Given the description of an element on the screen output the (x, y) to click on. 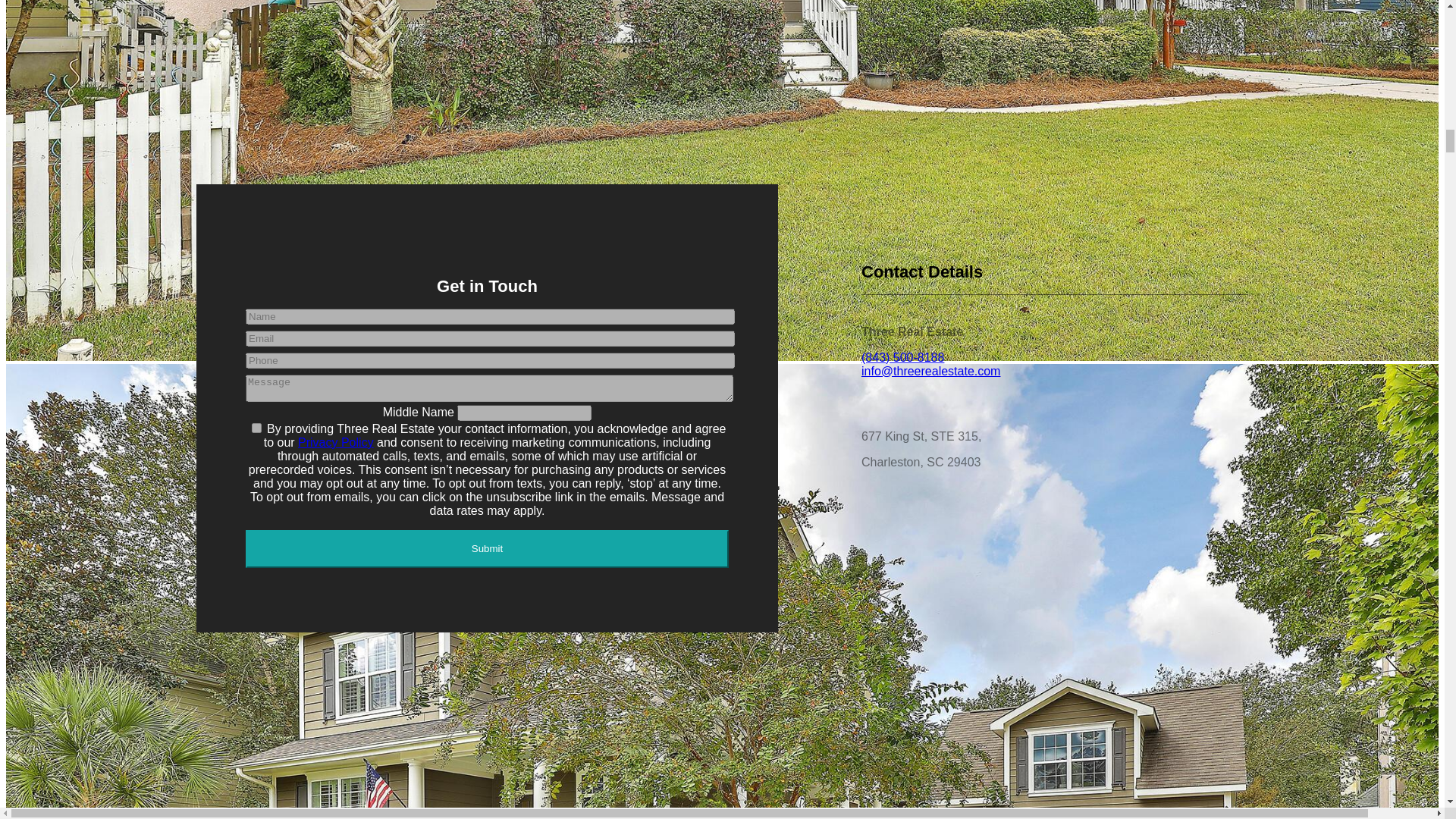
on (256, 428)
